Given the description of an element on the screen output the (x, y) to click on. 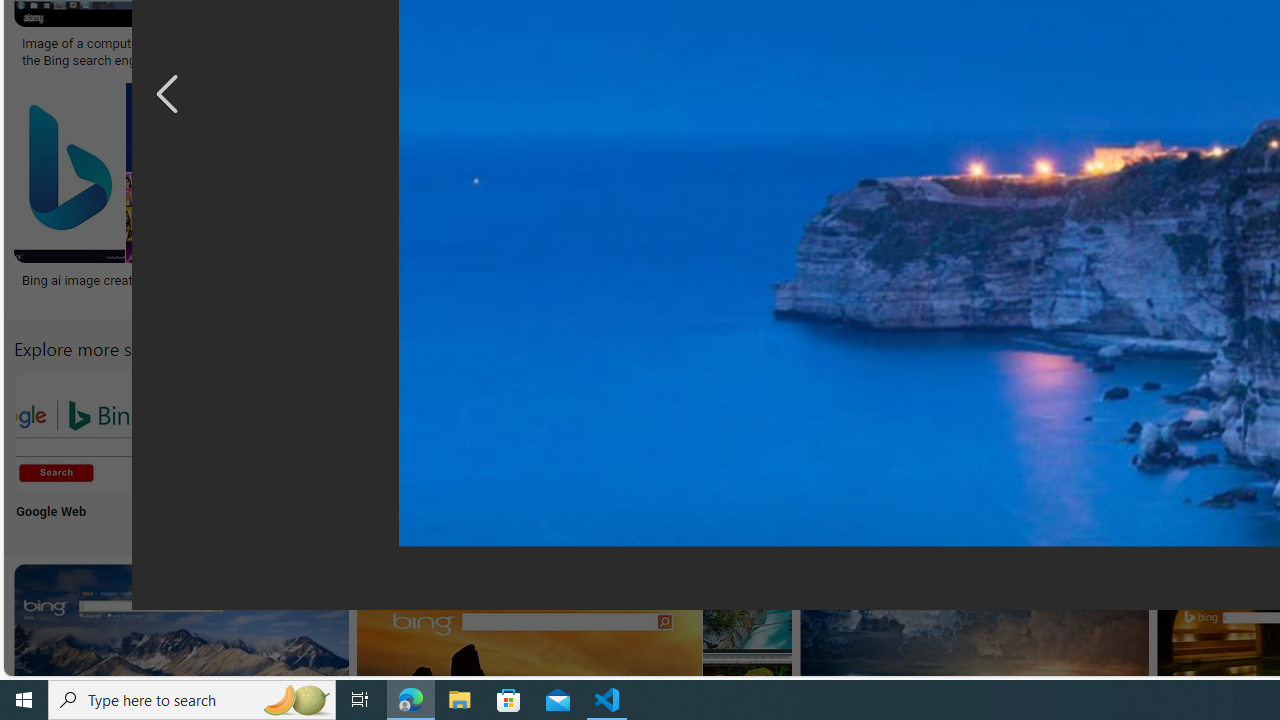
Dark Mode (604, 450)
Bing ai image creator (82, 279)
FIX: Downloading proxy script message on Google ChromeSave (930, 196)
Bing People Search (999, 432)
Bing Search Dark Mode Dark Mode (604, 450)
Image result for Bing Search Site (644, 172)
Bing Photo Search Microsoft Edge (472, 432)
Bing Search Dark Mode (604, 432)
Microsoft Edge (472, 450)
Google Web (74, 450)
Bing ai image creator (114, 279)
Internet Explorer Bing Search Internet Explorer (339, 450)
